Given the description of an element on the screen output the (x, y) to click on. 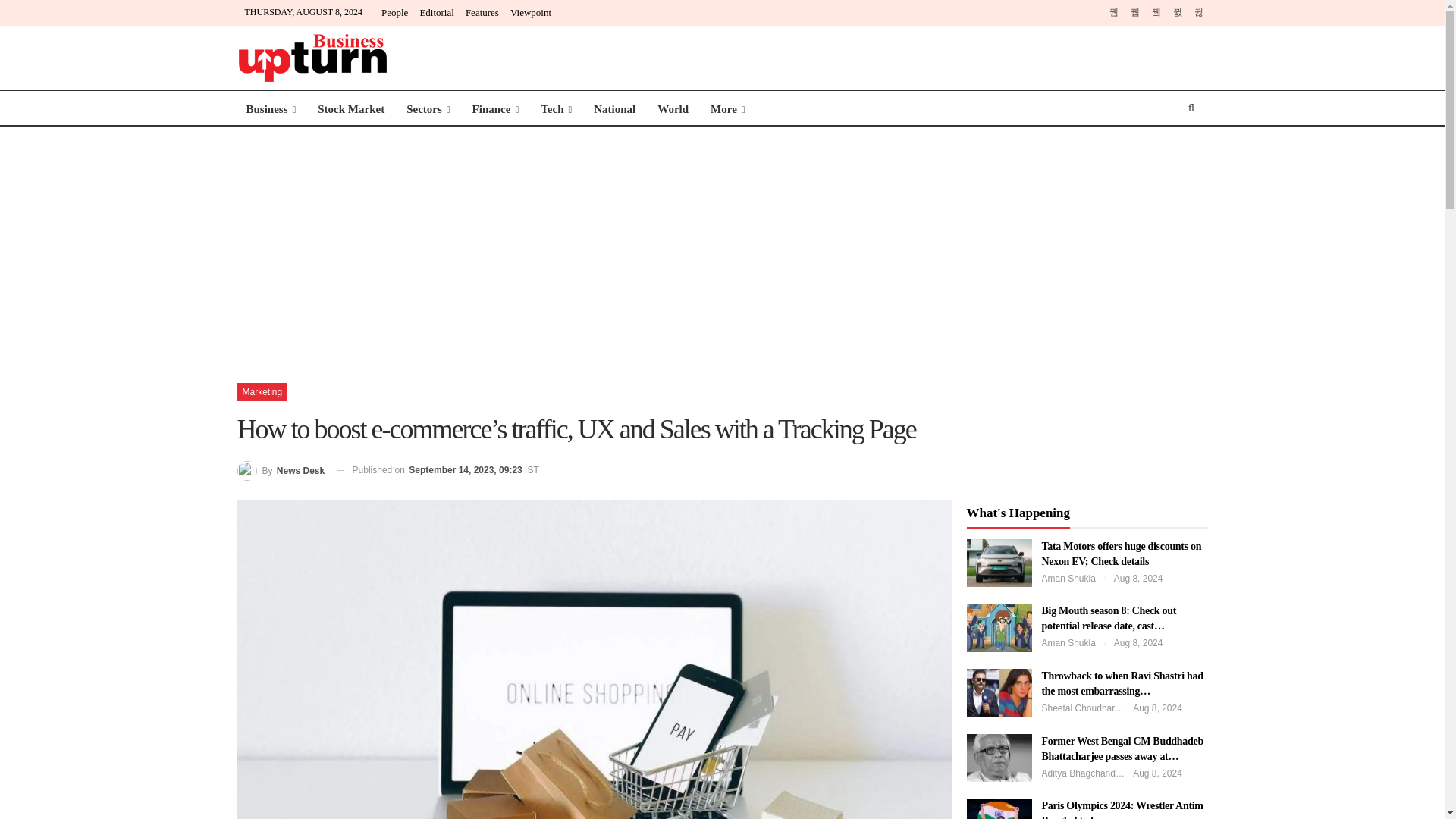
People (394, 12)
Browse Author Articles (279, 470)
Stock Market (350, 108)
Viewpoint (531, 12)
Features (482, 12)
Business (269, 108)
Editorial (436, 12)
Finance (495, 108)
Sectors (427, 108)
